Given the description of an element on the screen output the (x, y) to click on. 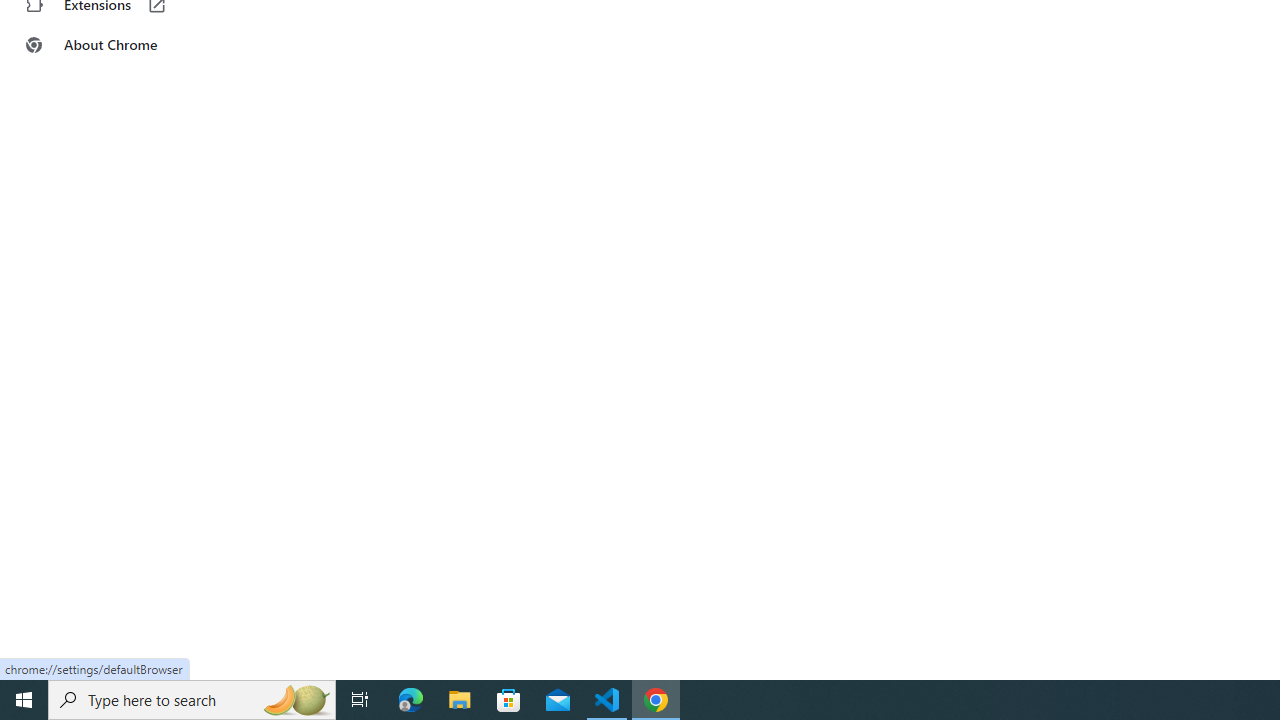
About Chrome (124, 44)
